Given the description of an element on the screen output the (x, y) to click on. 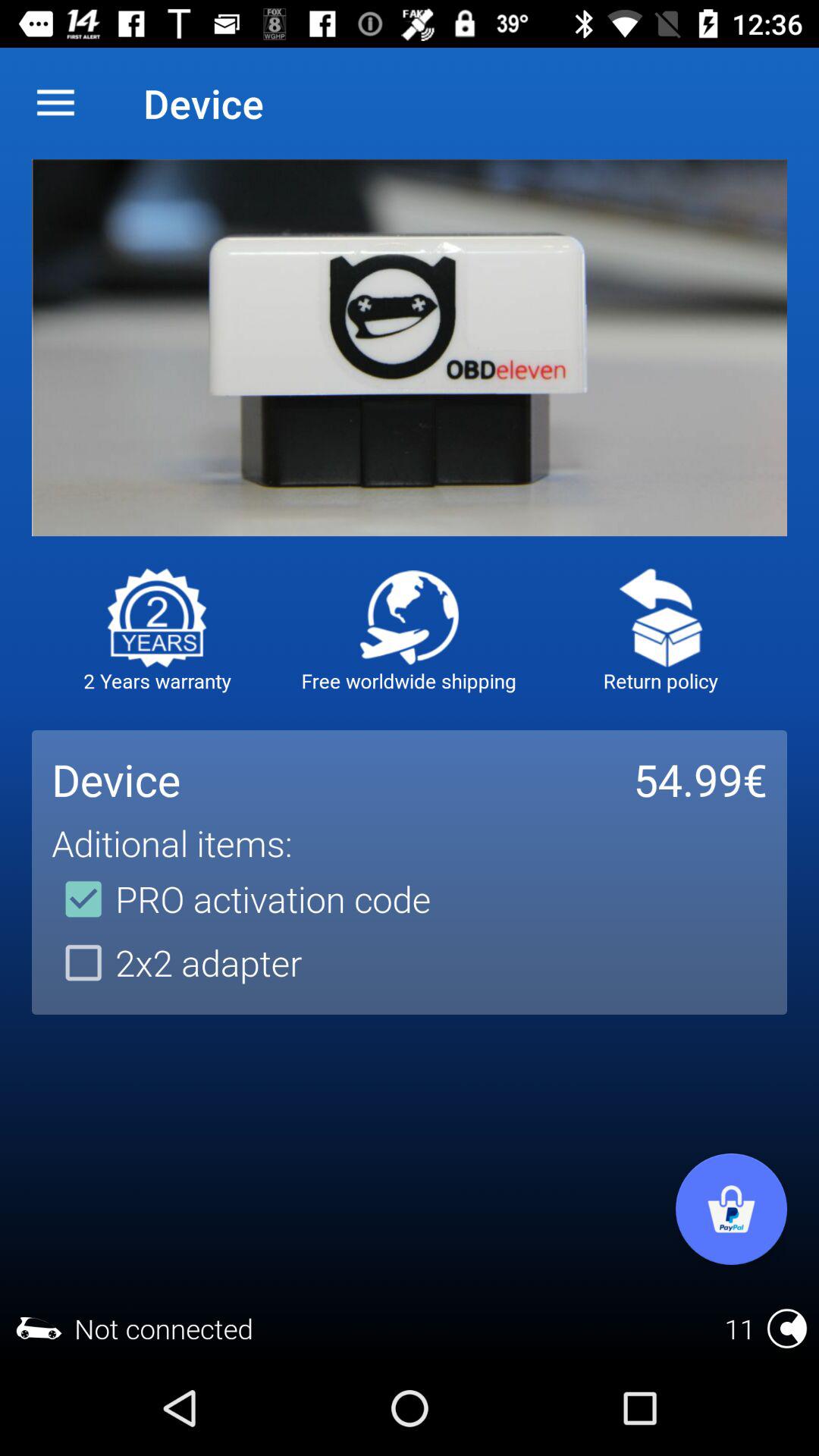
view the return policy (660, 617)
